Given the description of an element on the screen output the (x, y) to click on. 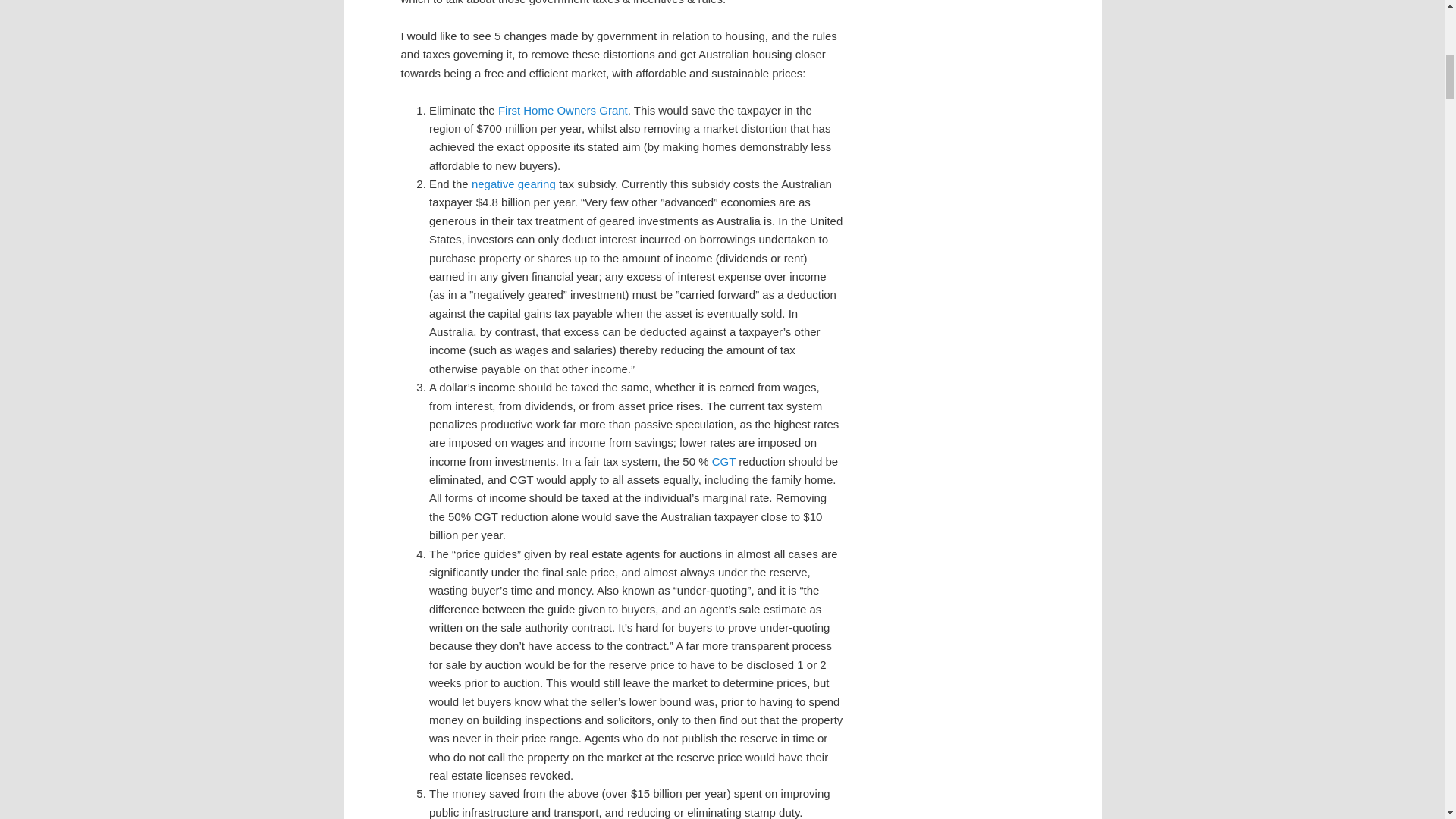
negative gearing (513, 183)
CGT (723, 461)
First Home Owners Grant (562, 110)
